Given the description of an element on the screen output the (x, y) to click on. 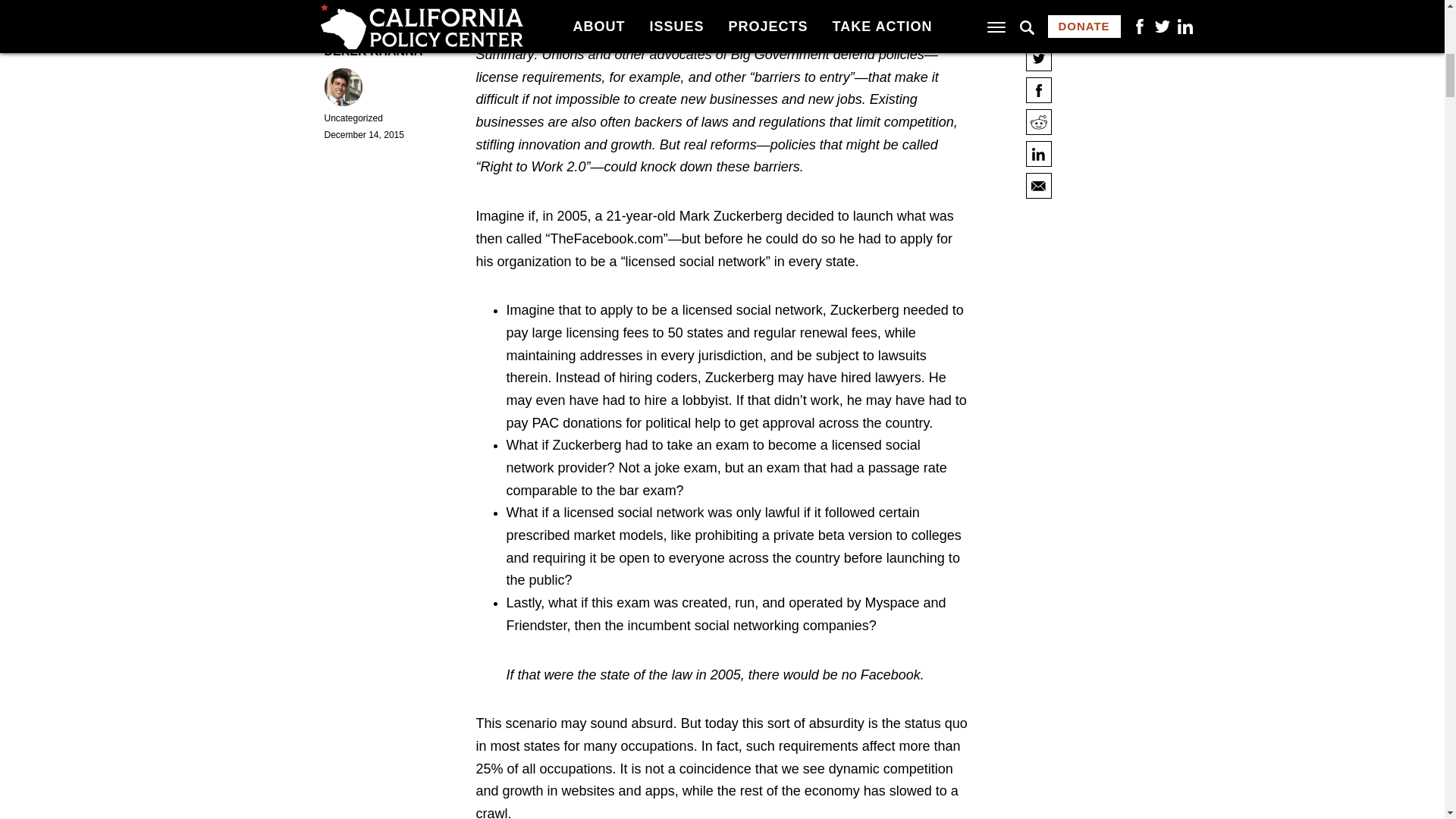
Education Reform (628, 431)
Meet the Team (619, 337)
Contact (600, 357)
ABOUT (612, 316)
ISSUES (614, 410)
Newsletter Signup (628, 376)
